Given the description of an element on the screen output the (x, y) to click on. 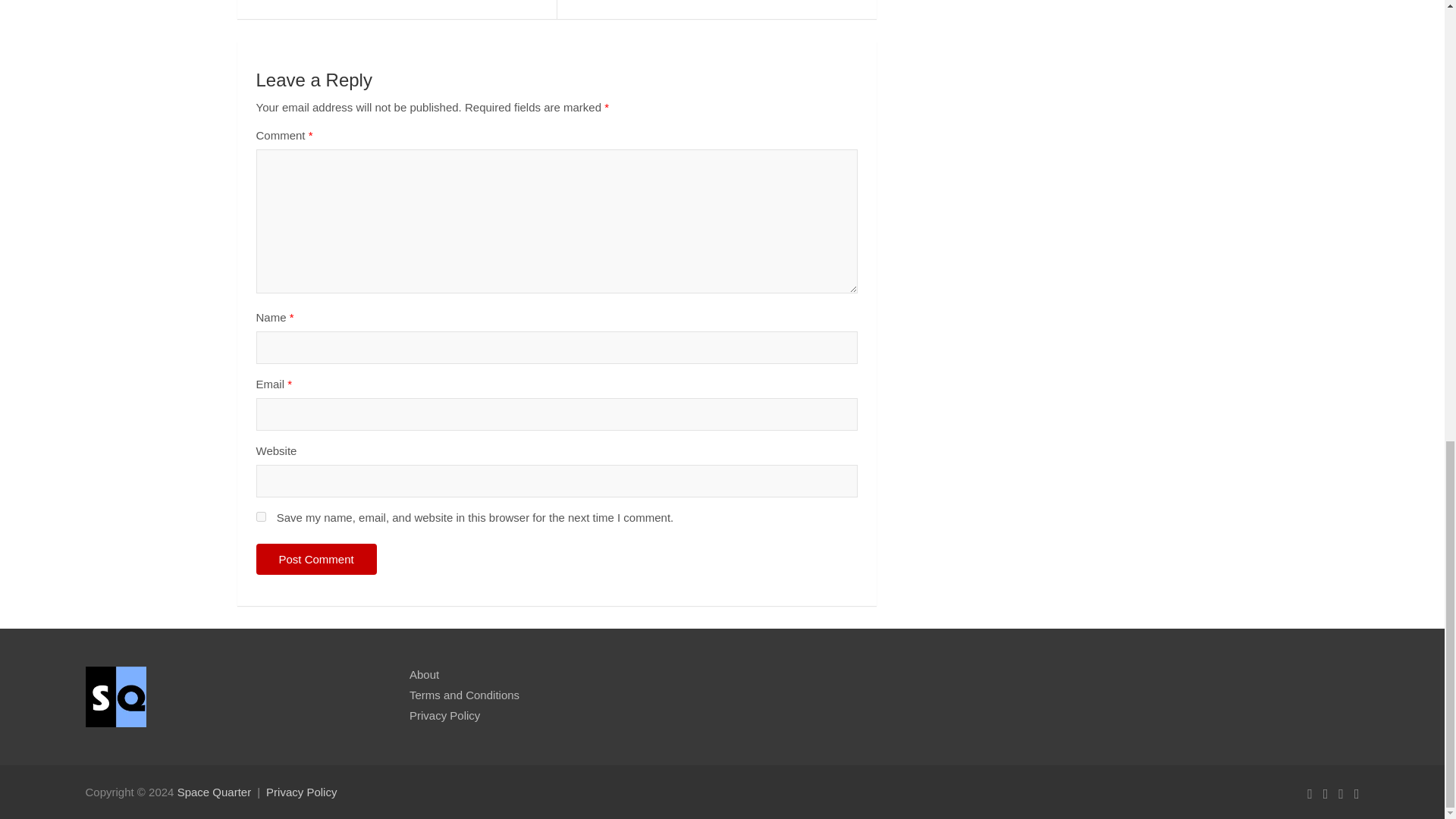
Space Quarter (214, 791)
Post Comment (316, 558)
Post Comment (316, 558)
yes (261, 516)
